Given the description of an element on the screen output the (x, y) to click on. 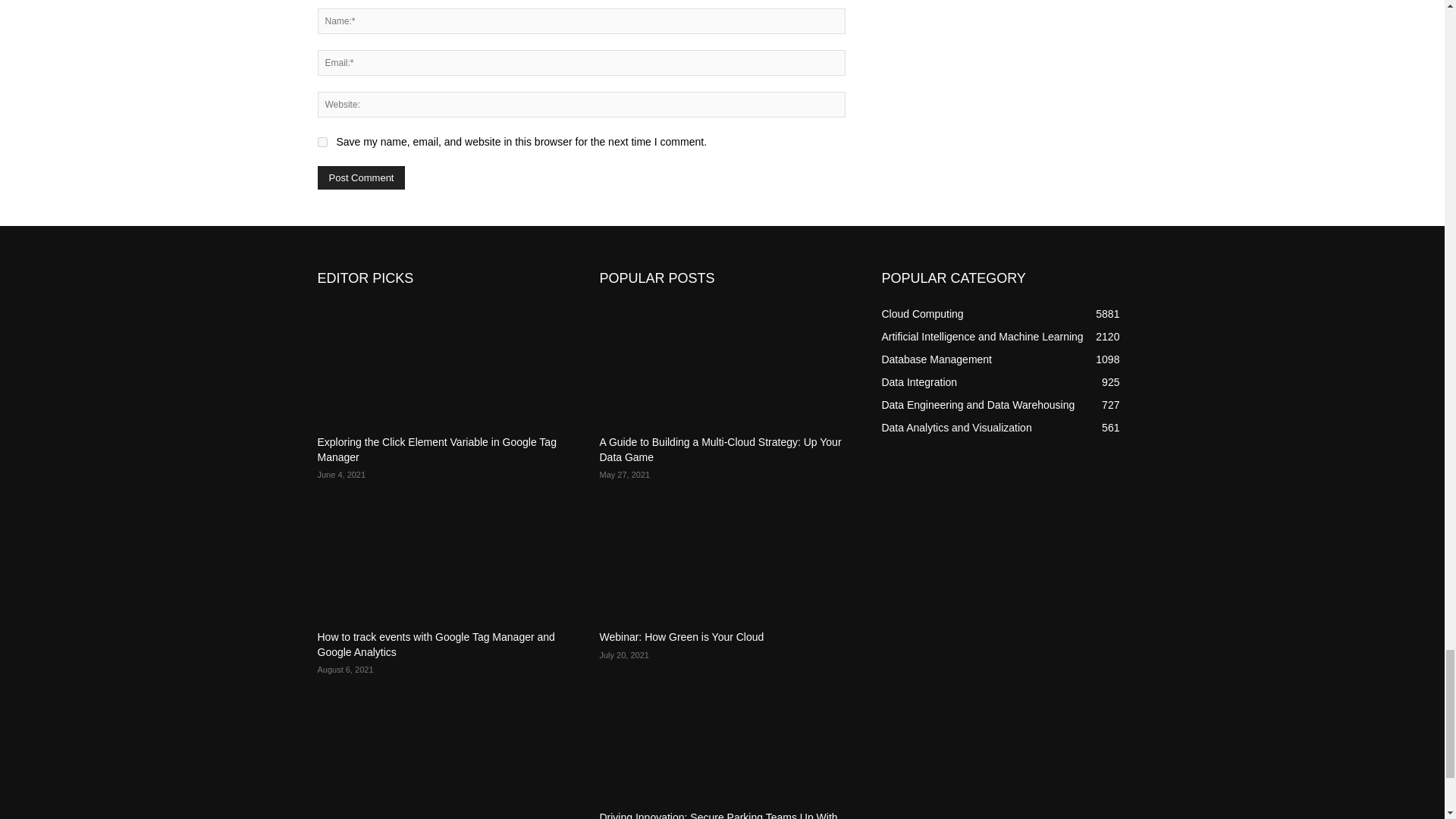
yes (321, 142)
Post Comment (360, 177)
